Given the description of an element on the screen output the (x, y) to click on. 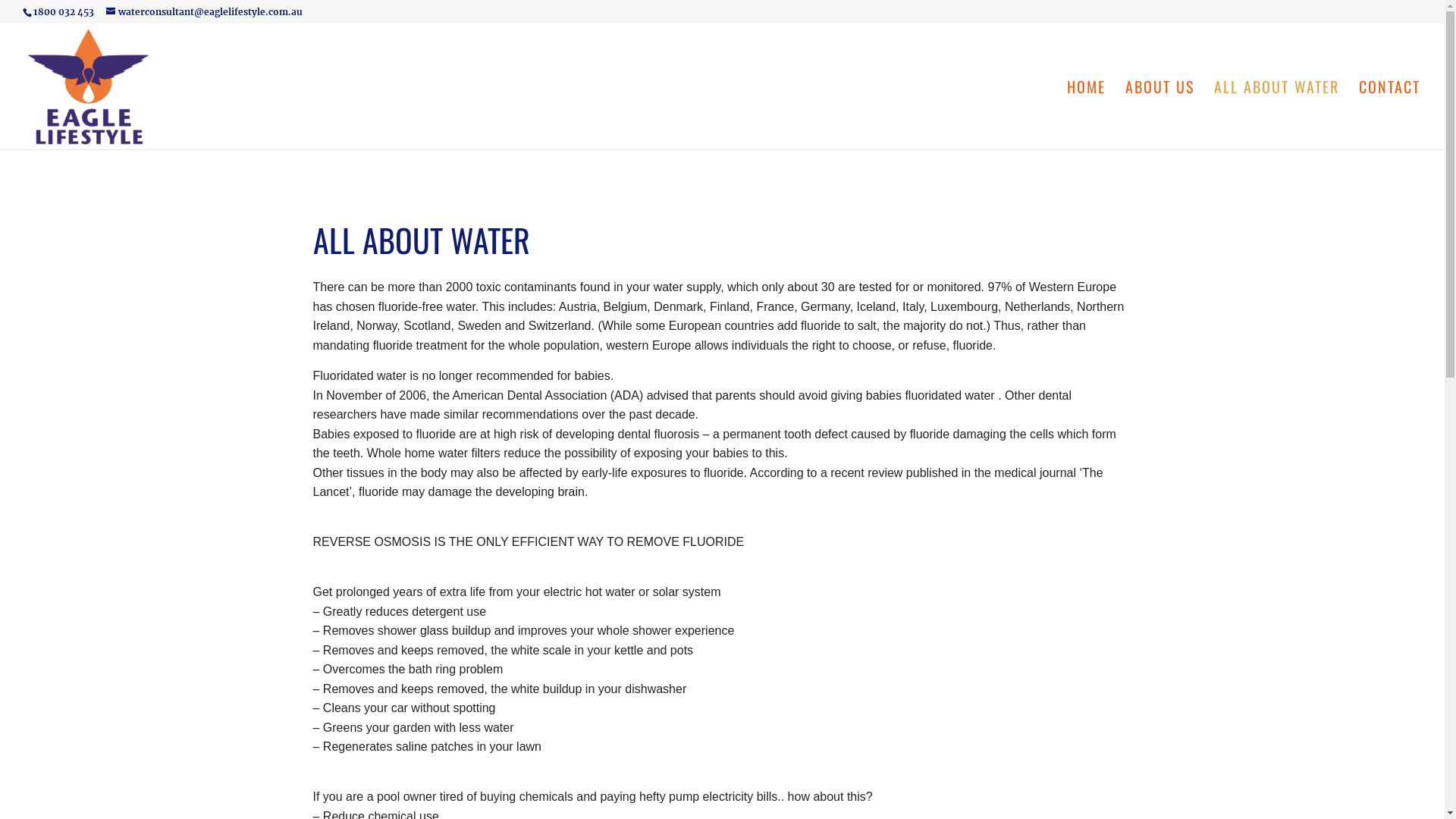
waterconsultant@eaglelifestyle.com.au Element type: text (204, 11)
HOME Element type: text (1085, 115)
ALL ABOUT WATER Element type: text (1276, 115)
CONTACT Element type: text (1389, 115)
ABOUT US Element type: text (1159, 115)
